Given the description of an element on the screen output the (x, y) to click on. 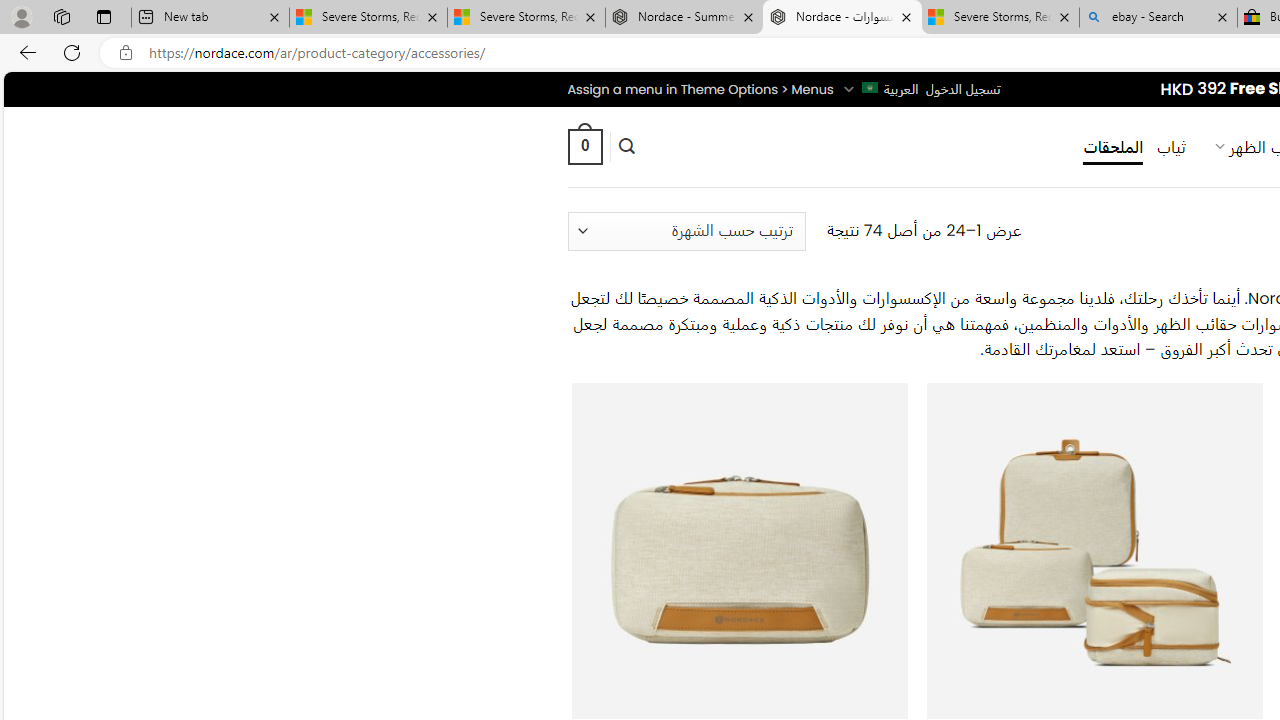
Assign a menu in Theme Options > Menus (700, 89)
 0  (584, 146)
